Given the description of an element on the screen output the (x, y) to click on. 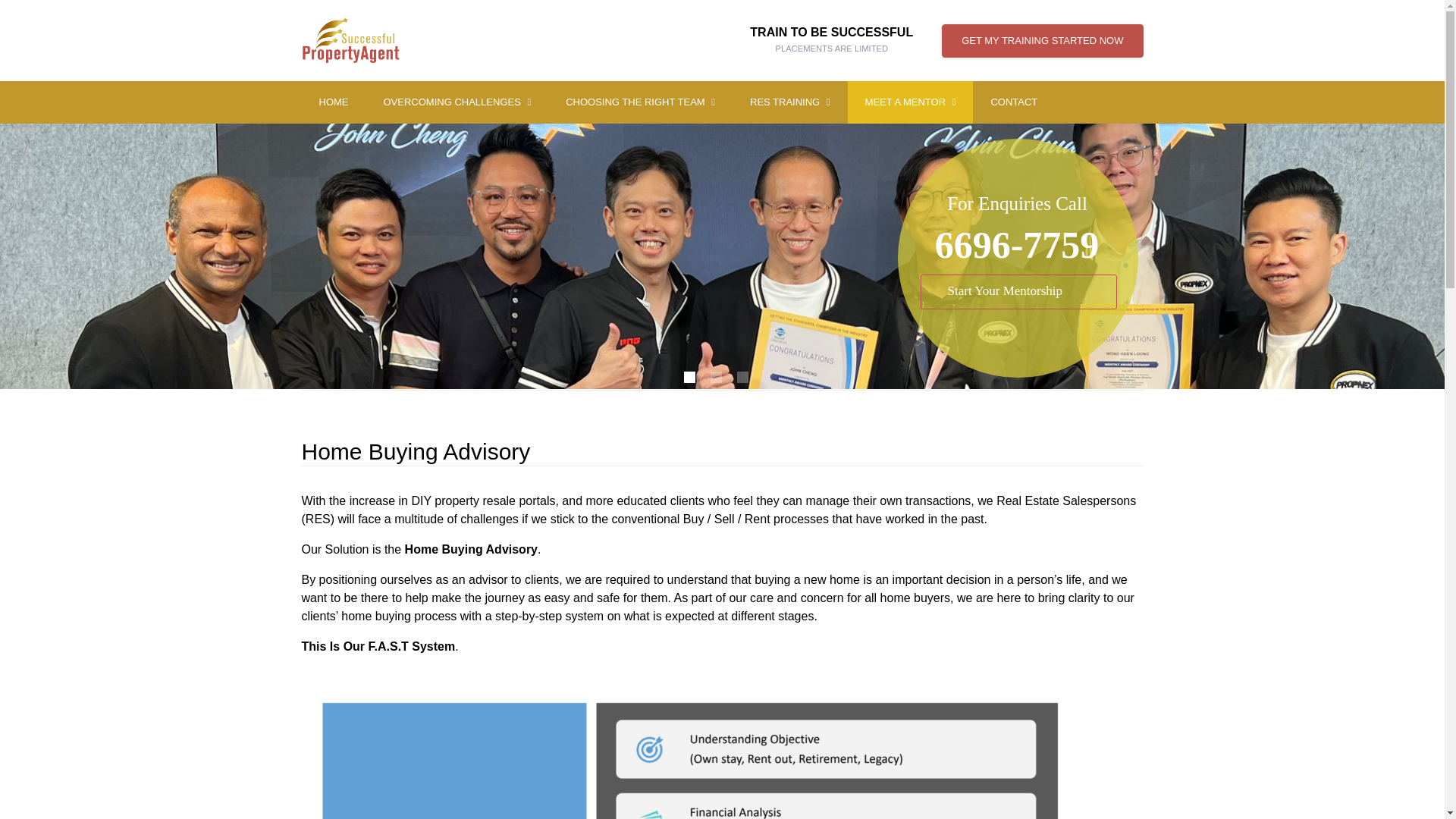
HOME (333, 102)
RES Training (789, 102)
Home (831, 40)
Start Your Mentorship (333, 102)
OVERCOMING CHALLENGES (1018, 291)
RES TRAINING (456, 102)
Overcoming Challenges (789, 102)
Choosing The Right Team (456, 102)
MEET A MENTOR (640, 102)
GET MY TRAINING STARTED NOW (910, 102)
CHOOSING THE RIGHT TEAM (1042, 40)
CONTACT (640, 102)
